Given the description of an element on the screen output the (x, y) to click on. 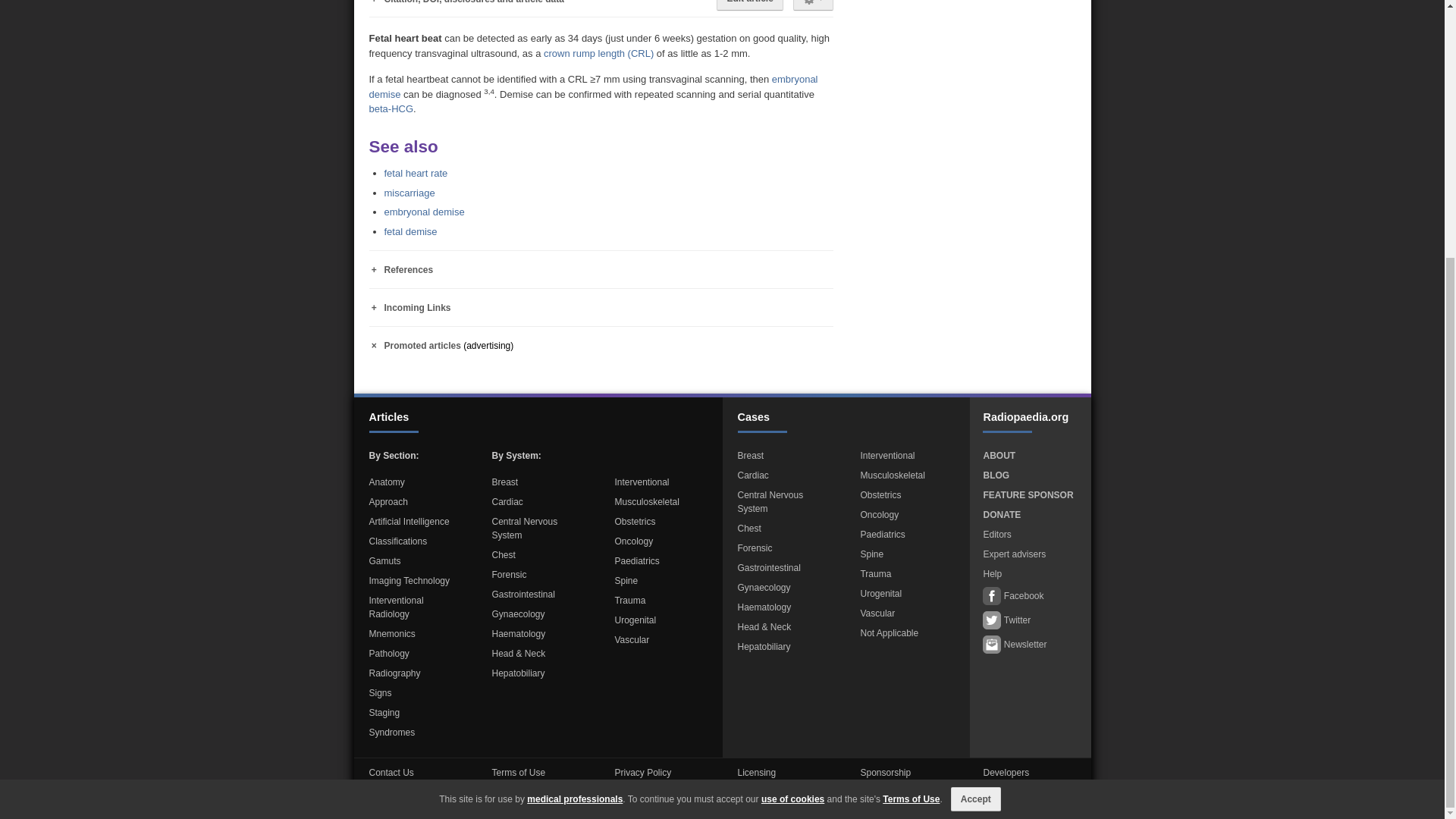
Edit article (749, 5)
